Given the description of an element on the screen output the (x, y) to click on. 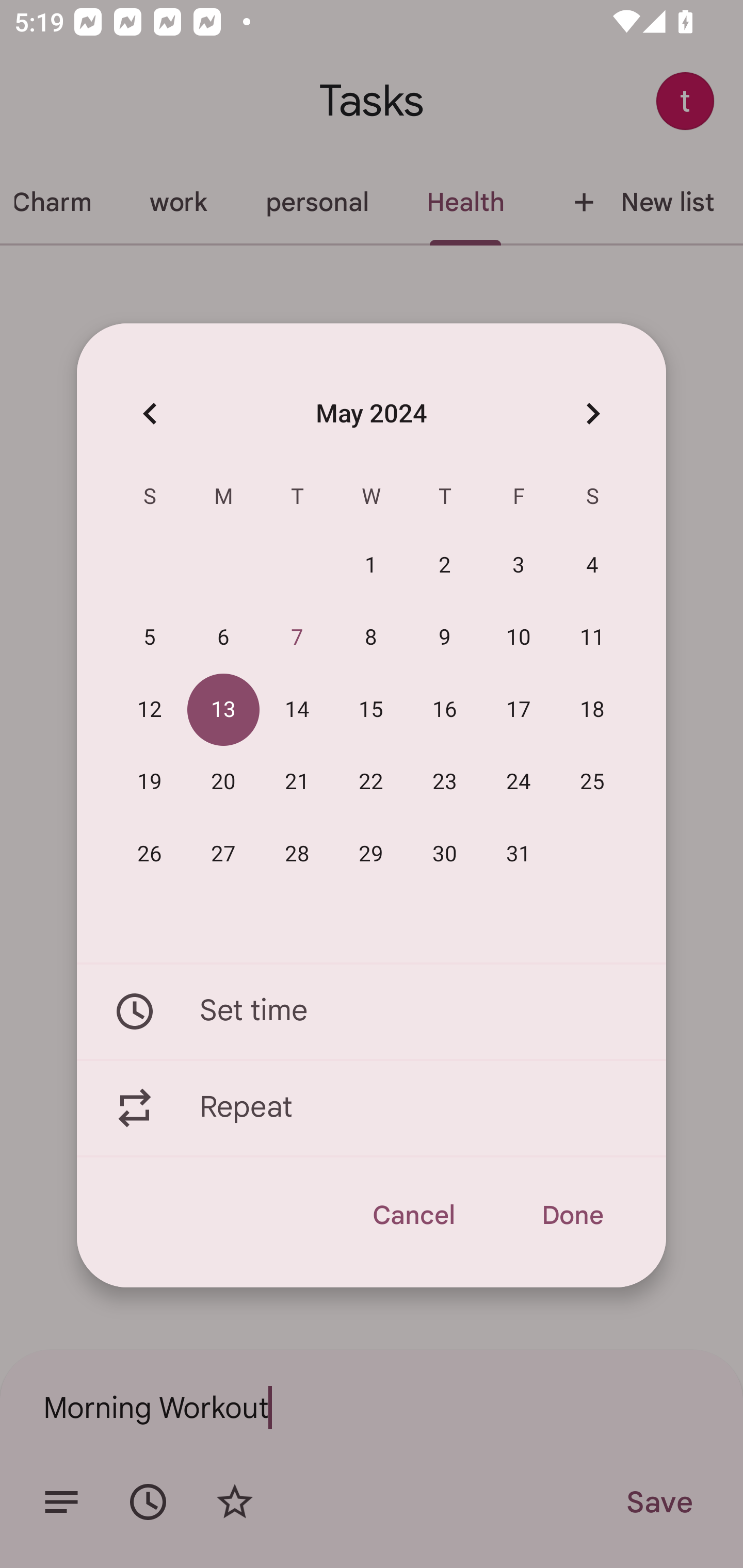
Previous month (149, 413)
Next month (592, 413)
1 01 May 2024 (370, 565)
2 02 May 2024 (444, 565)
3 03 May 2024 (518, 565)
4 04 May 2024 (592, 565)
5 05 May 2024 (149, 638)
6 06 May 2024 (223, 638)
7 07 May 2024 (297, 638)
8 08 May 2024 (370, 638)
9 09 May 2024 (444, 638)
10 10 May 2024 (518, 638)
11 11 May 2024 (592, 638)
12 12 May 2024 (149, 710)
13 13 May 2024 (223, 710)
14 14 May 2024 (297, 710)
15 15 May 2024 (370, 710)
16 16 May 2024 (444, 710)
17 17 May 2024 (518, 710)
18 18 May 2024 (592, 710)
19 19 May 2024 (149, 782)
20 20 May 2024 (223, 782)
21 21 May 2024 (297, 782)
22 22 May 2024 (370, 782)
23 23 May 2024 (444, 782)
24 24 May 2024 (518, 782)
25 25 May 2024 (592, 782)
26 26 May 2024 (149, 854)
27 27 May 2024 (223, 854)
28 28 May 2024 (297, 854)
29 29 May 2024 (370, 854)
30 30 May 2024 (444, 854)
31 31 May 2024 (518, 854)
Set time (371, 1011)
Repeat (371, 1108)
Cancel (412, 1215)
Done (571, 1215)
